Given the description of an element on the screen output the (x, y) to click on. 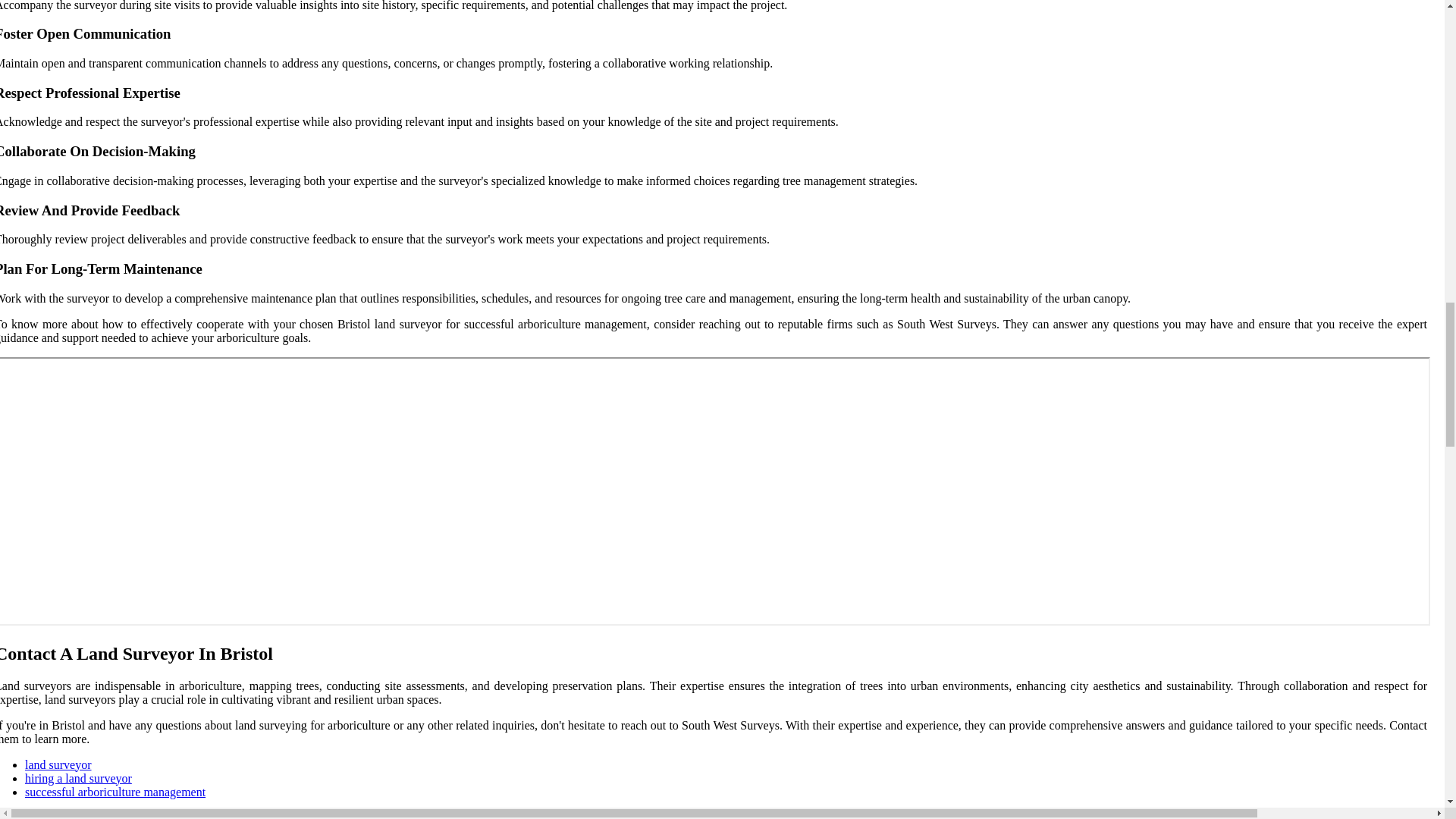
Next postIs arboriculture a good career? (94, 815)
successful arboriculture management (114, 791)
hiring a land surveyor (78, 778)
land surveyor (57, 764)
